Given the description of an element on the screen output the (x, y) to click on. 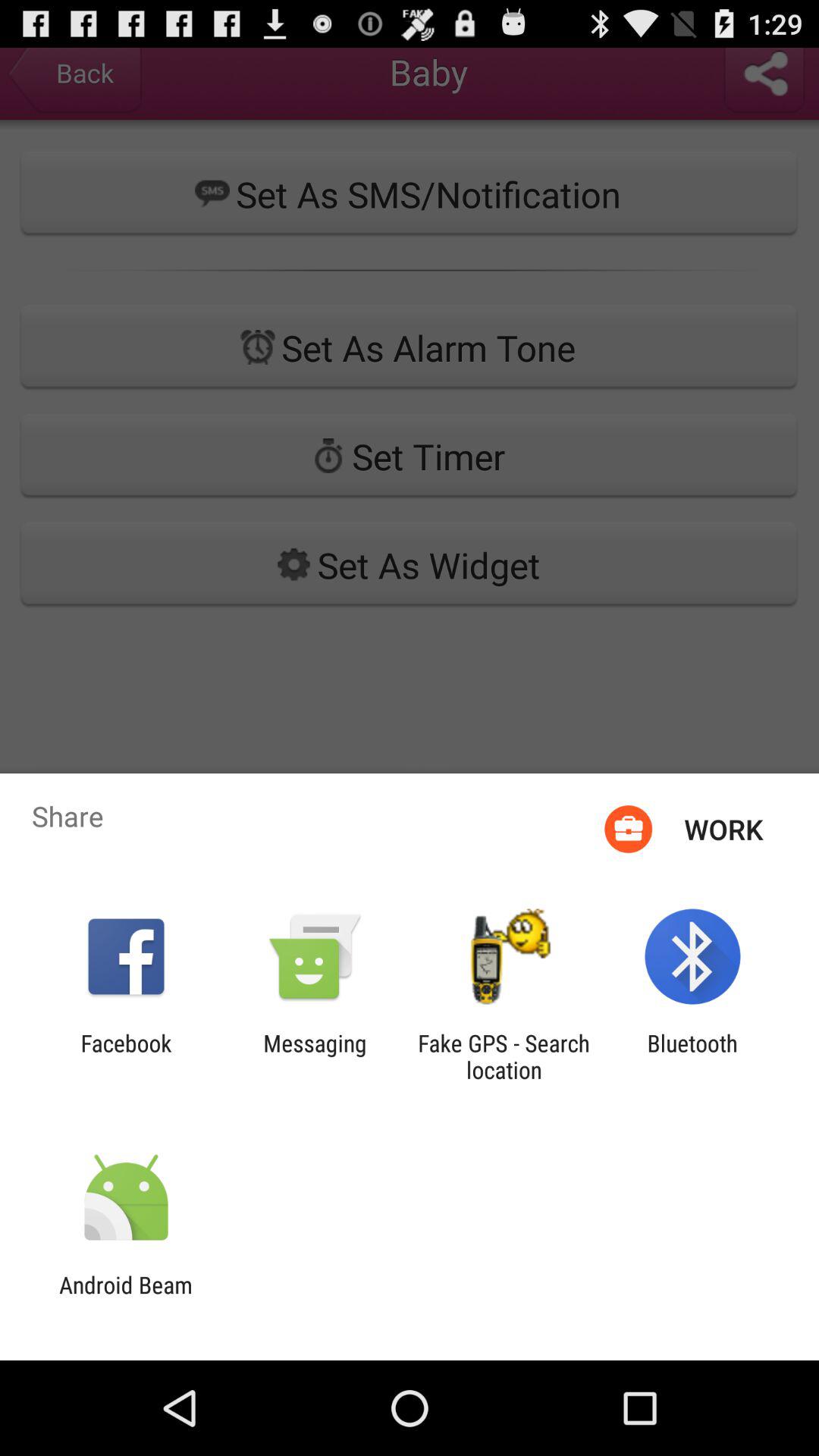
tap item to the right of the fake gps search app (692, 1056)
